Given the description of an element on the screen output the (x, y) to click on. 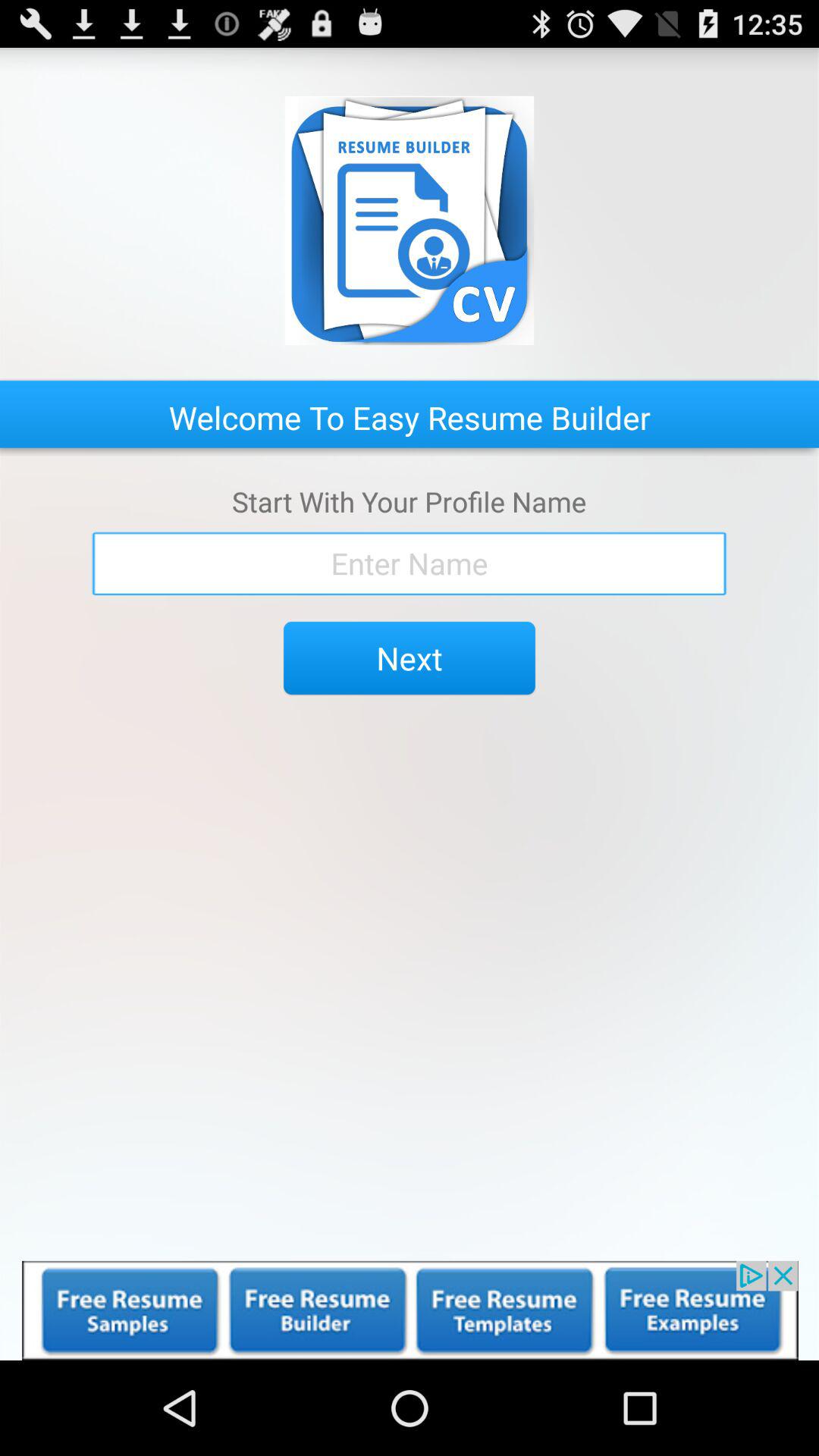
inset the name (409, 563)
